Given the description of an element on the screen output the (x, y) to click on. 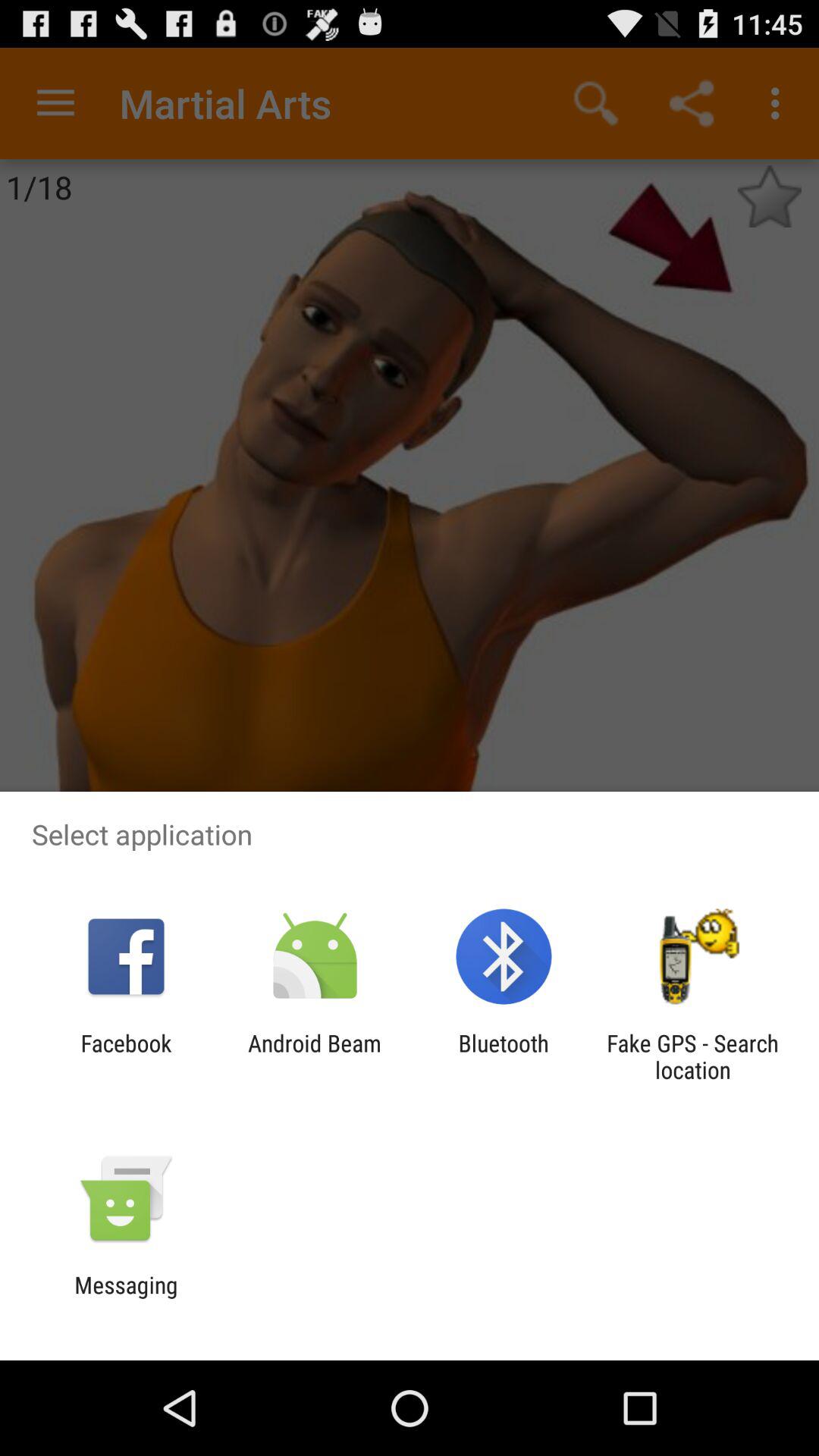
flip to android beam icon (314, 1056)
